Given the description of an element on the screen output the (x, y) to click on. 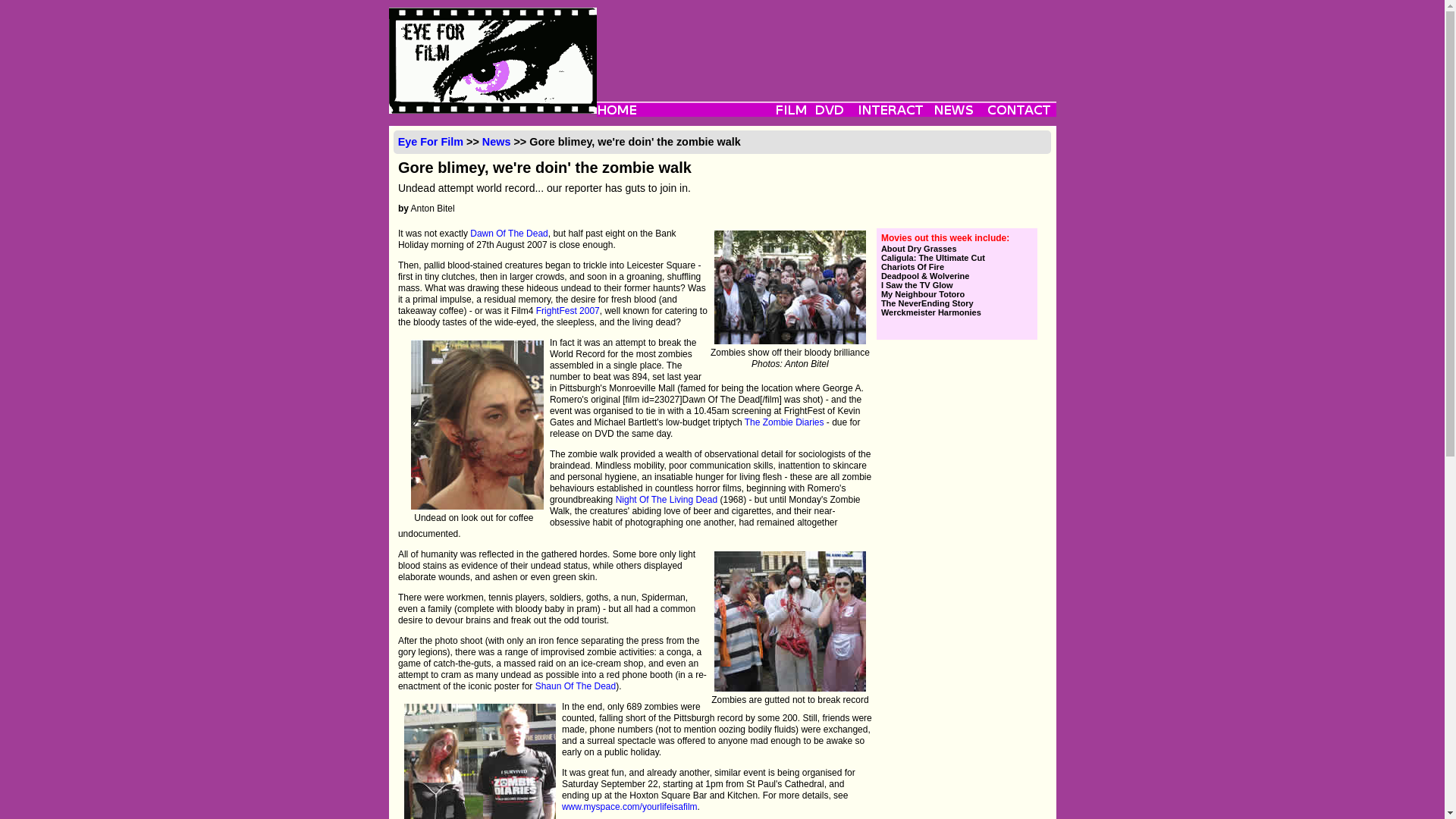
The Zombie Diaries (784, 421)
Dawn Of The Dead (509, 233)
Eye For Film (430, 141)
News (496, 141)
FrightFest 2007 (567, 310)
Chariots Of Fire (956, 266)
Night Of The Living Dead (666, 499)
About Dry Grasses (956, 248)
Caligula: The Ultimate Cut (956, 257)
Shaun Of The Dead (575, 685)
